Given the description of an element on the screen output the (x, y) to click on. 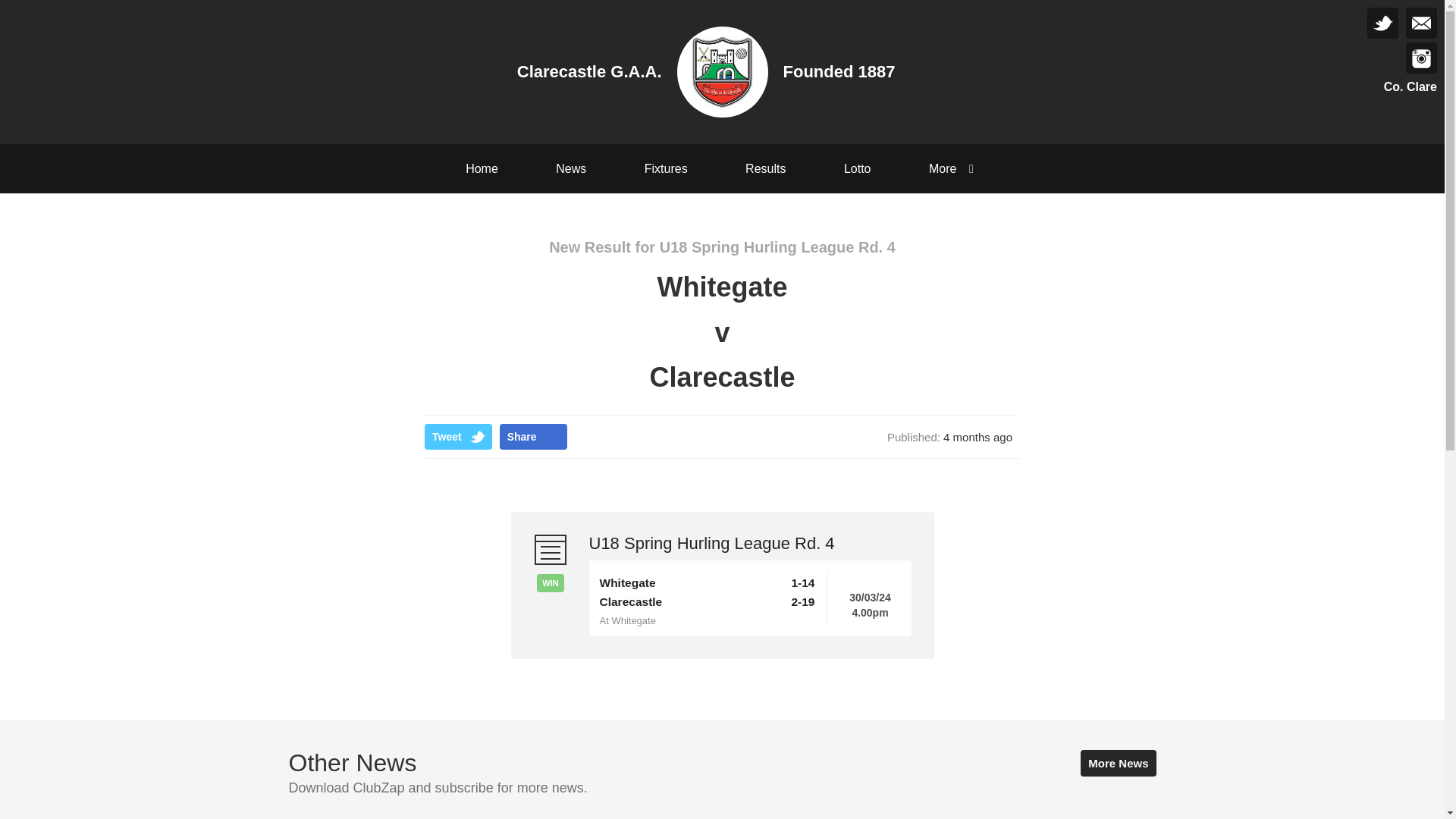
News (570, 168)
Twitter (1382, 22)
Lotto (857, 168)
Results (765, 168)
Fixtures (665, 168)
Home (481, 168)
Instagram (1421, 57)
More (953, 168)
Email (1421, 22)
